Given the description of an element on the screen output the (x, y) to click on. 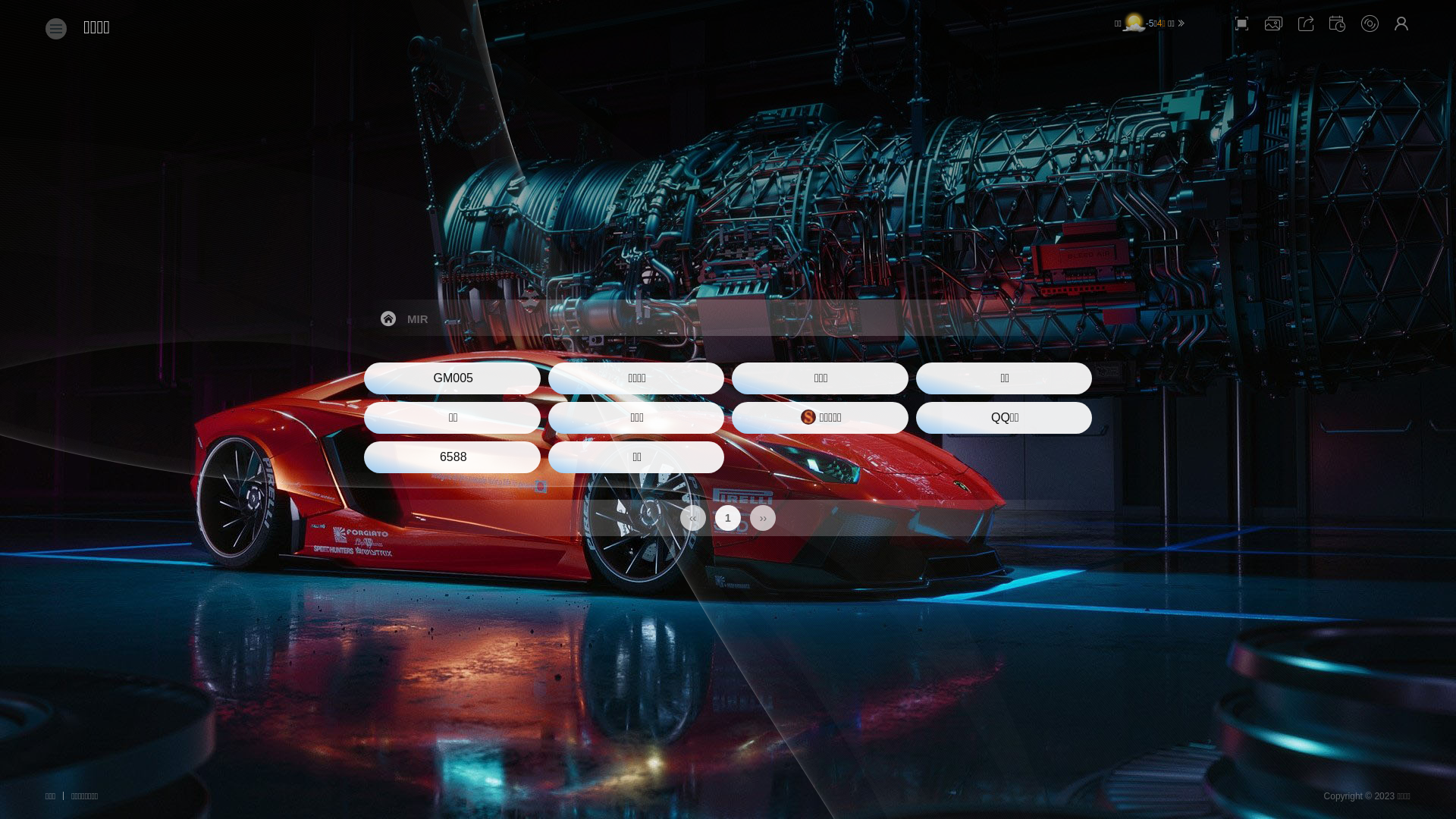
6588 Element type: text (452, 457)
GM005 Element type: text (452, 378)
